Given the description of an element on the screen output the (x, y) to click on. 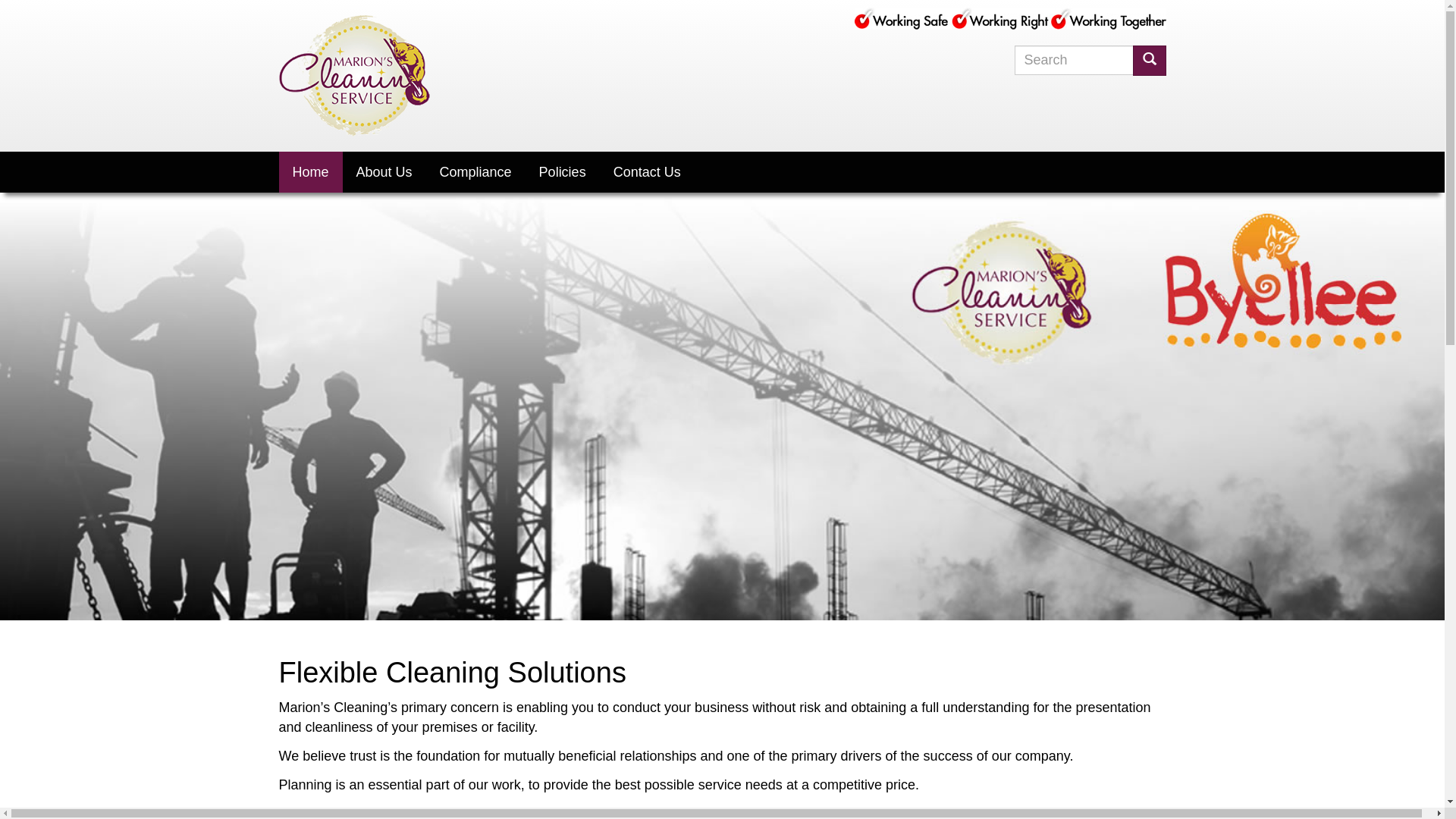
Compliance Element type: text (475, 171)
Enter the terms you wish to search for. Element type: hover (1073, 60)
Contact Us Element type: text (646, 171)
Home Element type: text (310, 171)
Skip to main content Element type: text (0, 0)
Home Element type: hover (354, 74)
Policies Element type: text (562, 171)
Search Element type: text (1166, 76)
About Us Element type: text (384, 171)
